Given the description of an element on the screen output the (x, y) to click on. 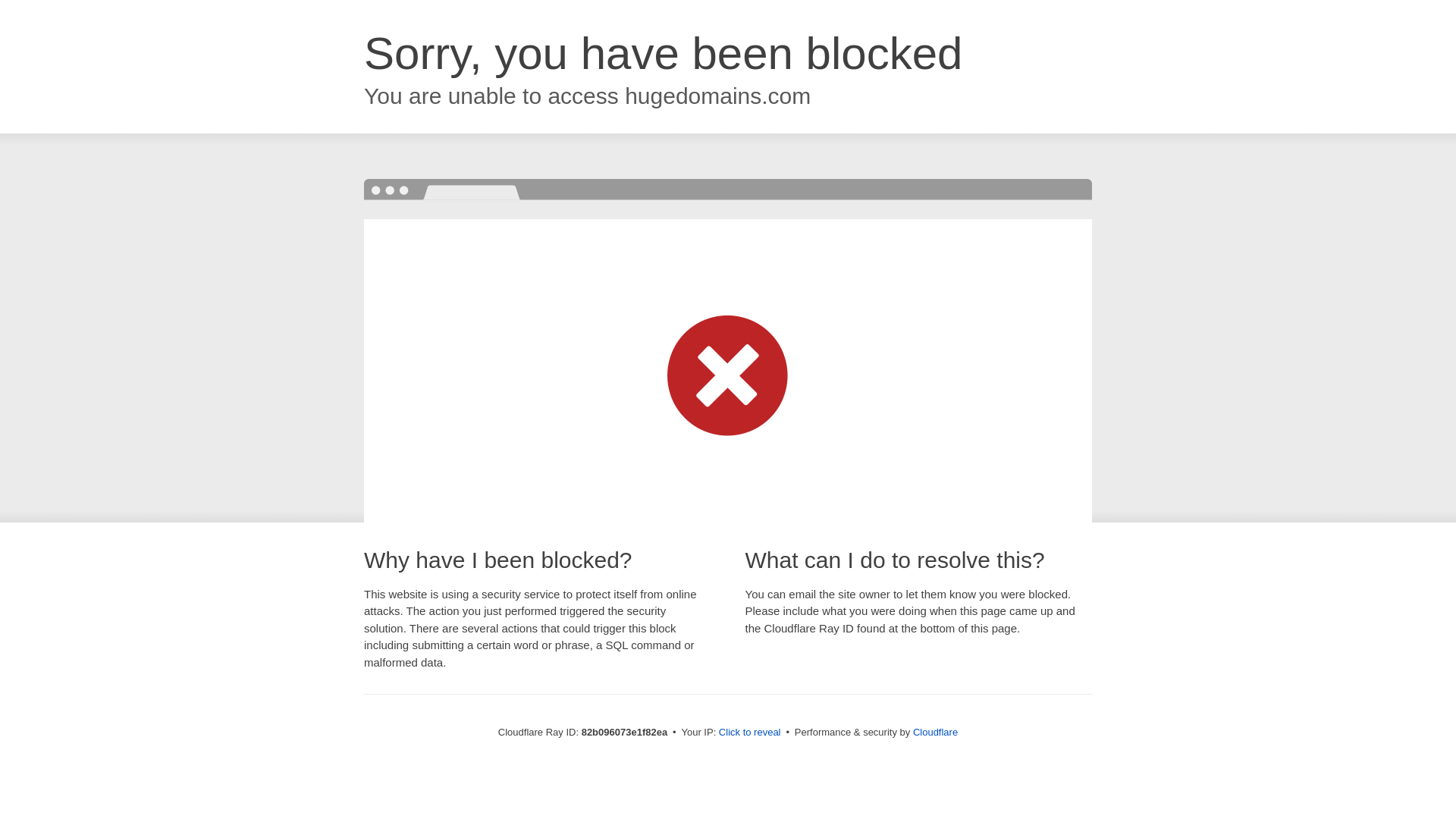
Cloudflare Element type: text (935, 731)
Click to reveal Element type: text (749, 732)
